Given the description of an element on the screen output the (x, y) to click on. 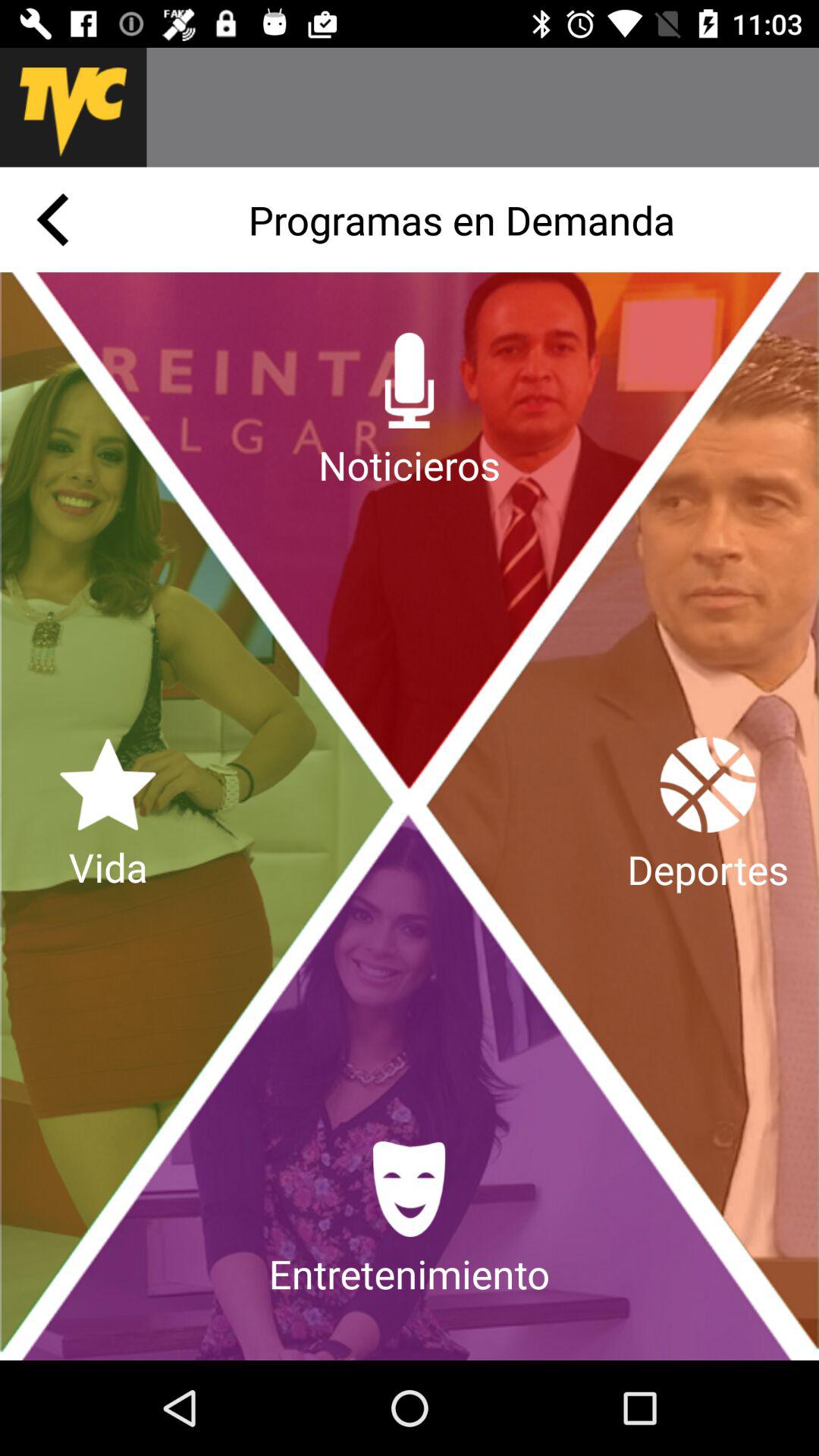
choose item to the right of the vida icon (708, 815)
